Given the description of an element on the screen output the (x, y) to click on. 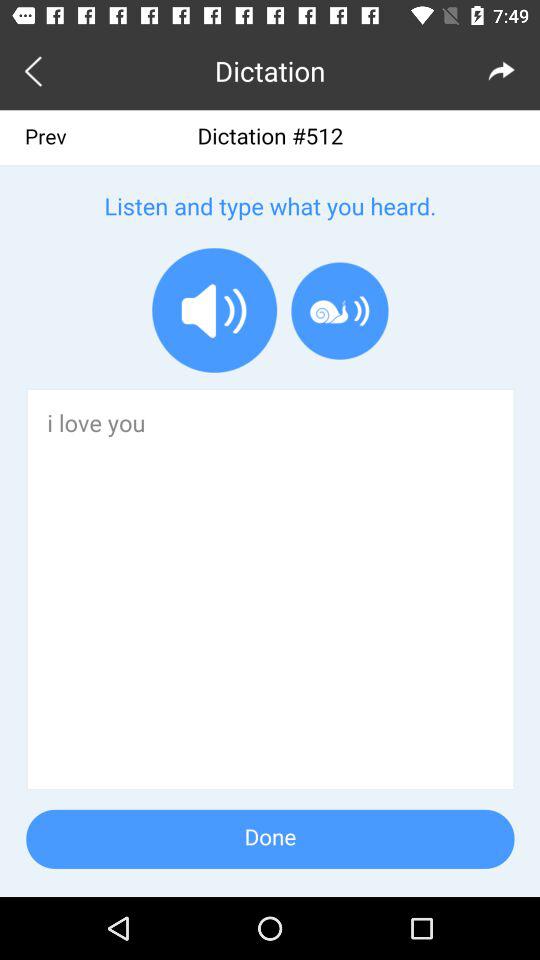
enter text (270, 503)
